Given the description of an element on the screen output the (x, y) to click on. 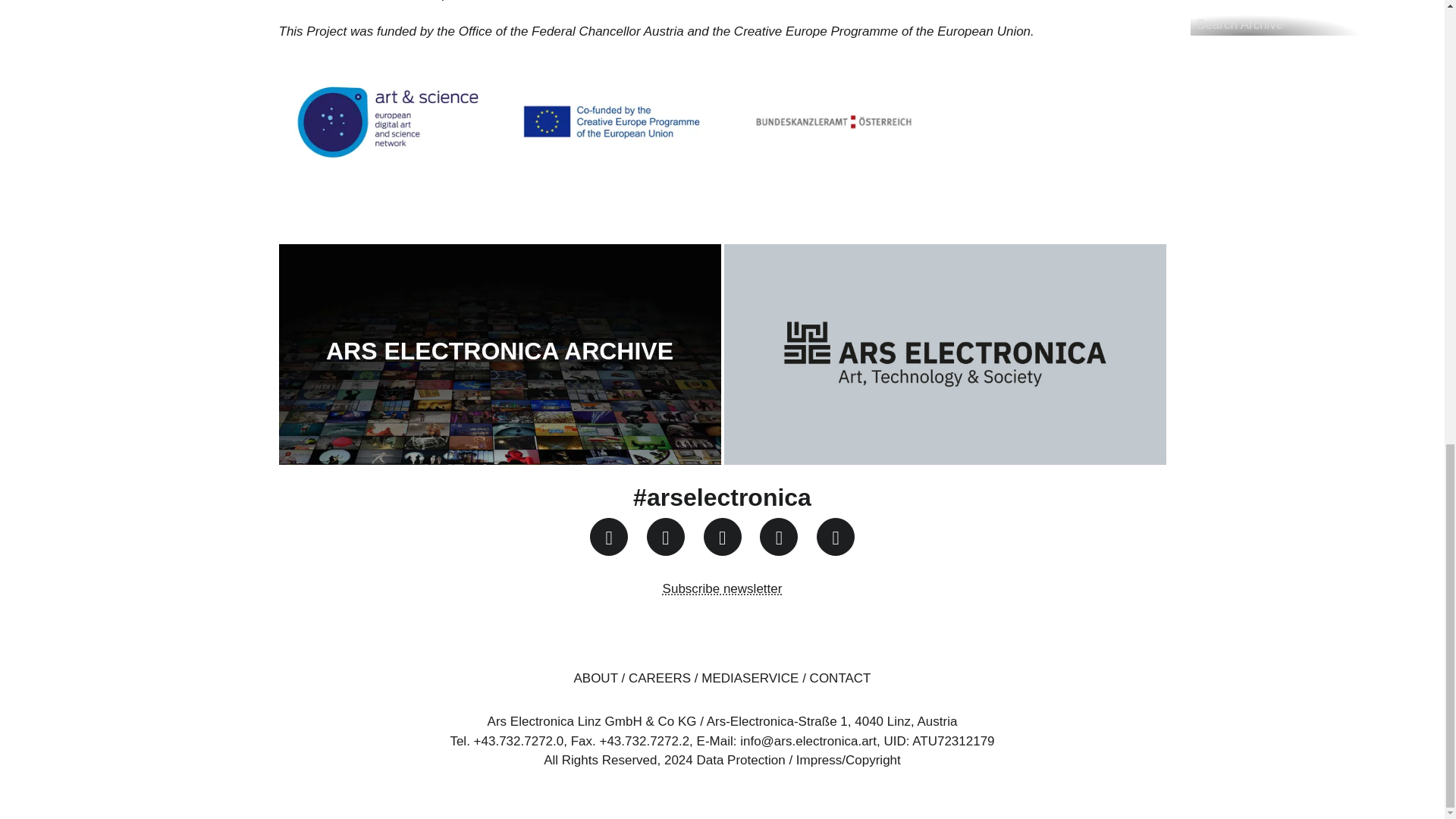
Facebook (665, 536)
YouTube (722, 536)
Instagram (608, 536)
